Given the description of an element on the screen output the (x, y) to click on. 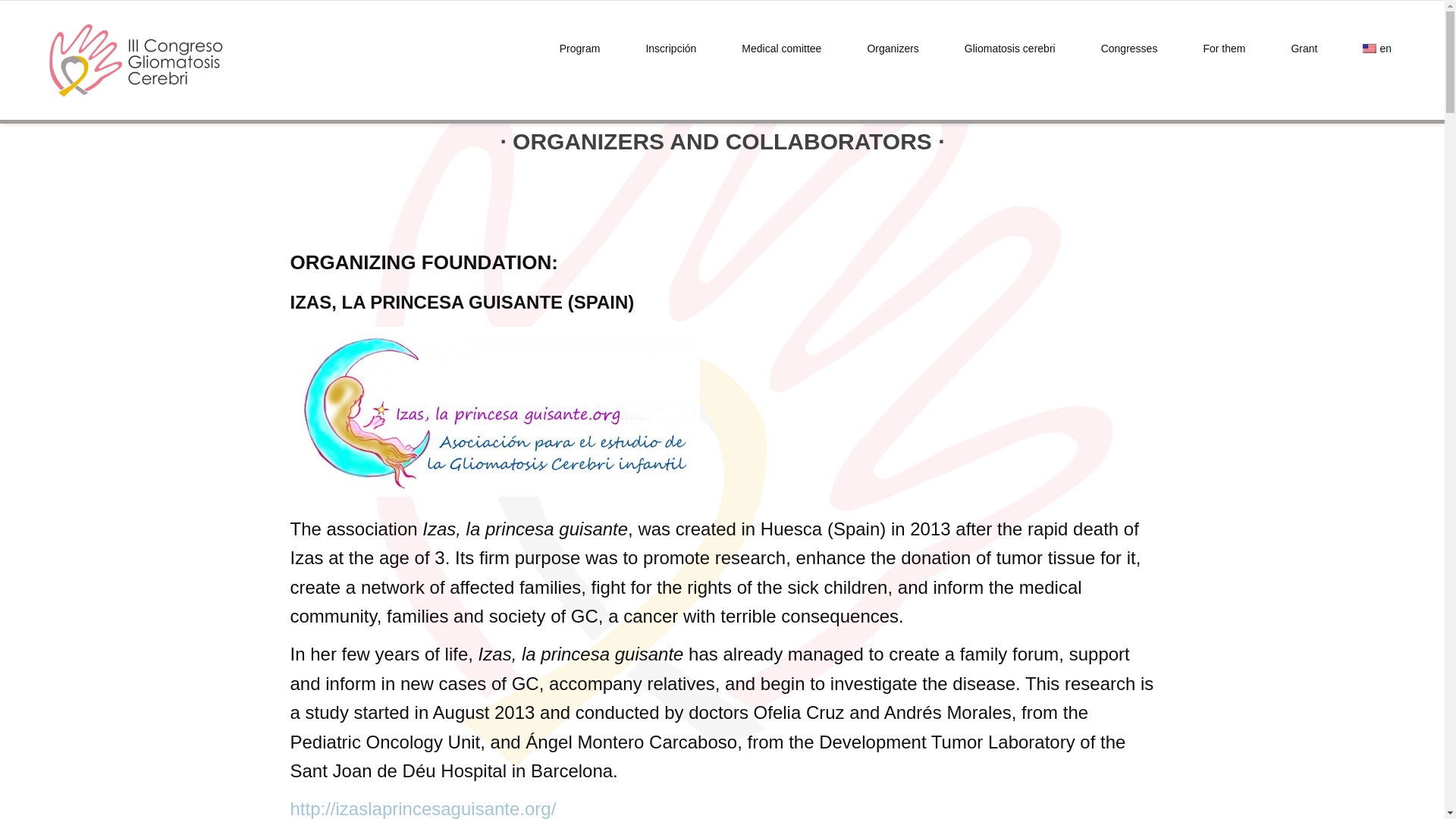
Congresses (1128, 48)
Grant (1303, 48)
For them (1223, 48)
Program (579, 48)
Gliomatosis cerebri (1009, 48)
Organizers (892, 48)
Medical comittee (781, 48)
en (1376, 48)
Congresses (1128, 48)
Gliomatosis cerebri (1009, 48)
Program (579, 48)
For them (1223, 48)
Medical comittee (781, 48)
Grant (1303, 48)
Organizers (892, 48)
